Given the description of an element on the screen output the (x, y) to click on. 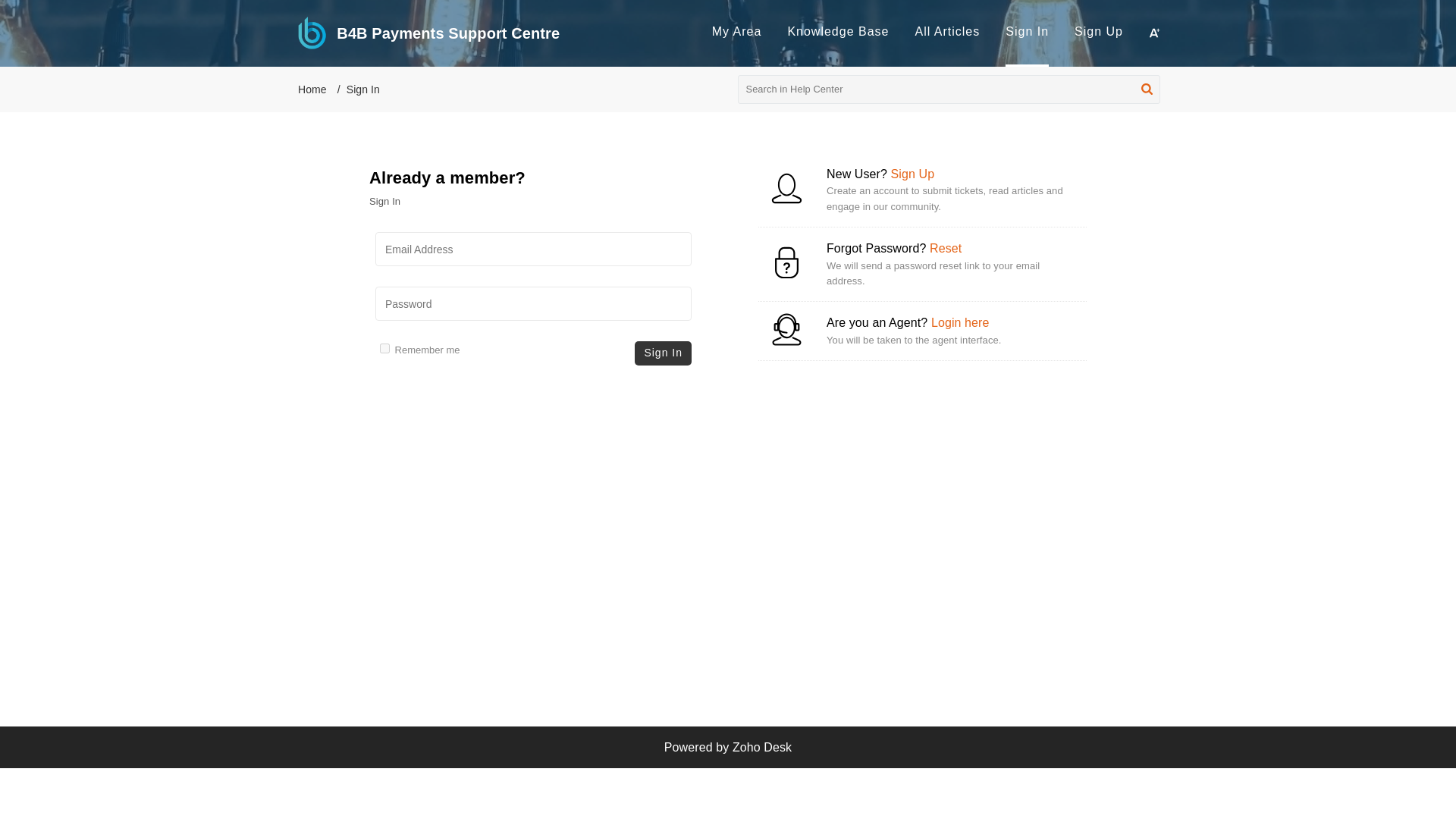
Home (312, 89)
All Articles (946, 31)
Zoho Desk (762, 747)
My Area (736, 31)
Reset (945, 247)
Knowledge Base (837, 33)
Sign Up (1098, 31)
Login here (960, 322)
B4B Payments Support Centre (517, 33)
Knowledge Base (837, 31)
